Given the description of an element on the screen output the (x, y) to click on. 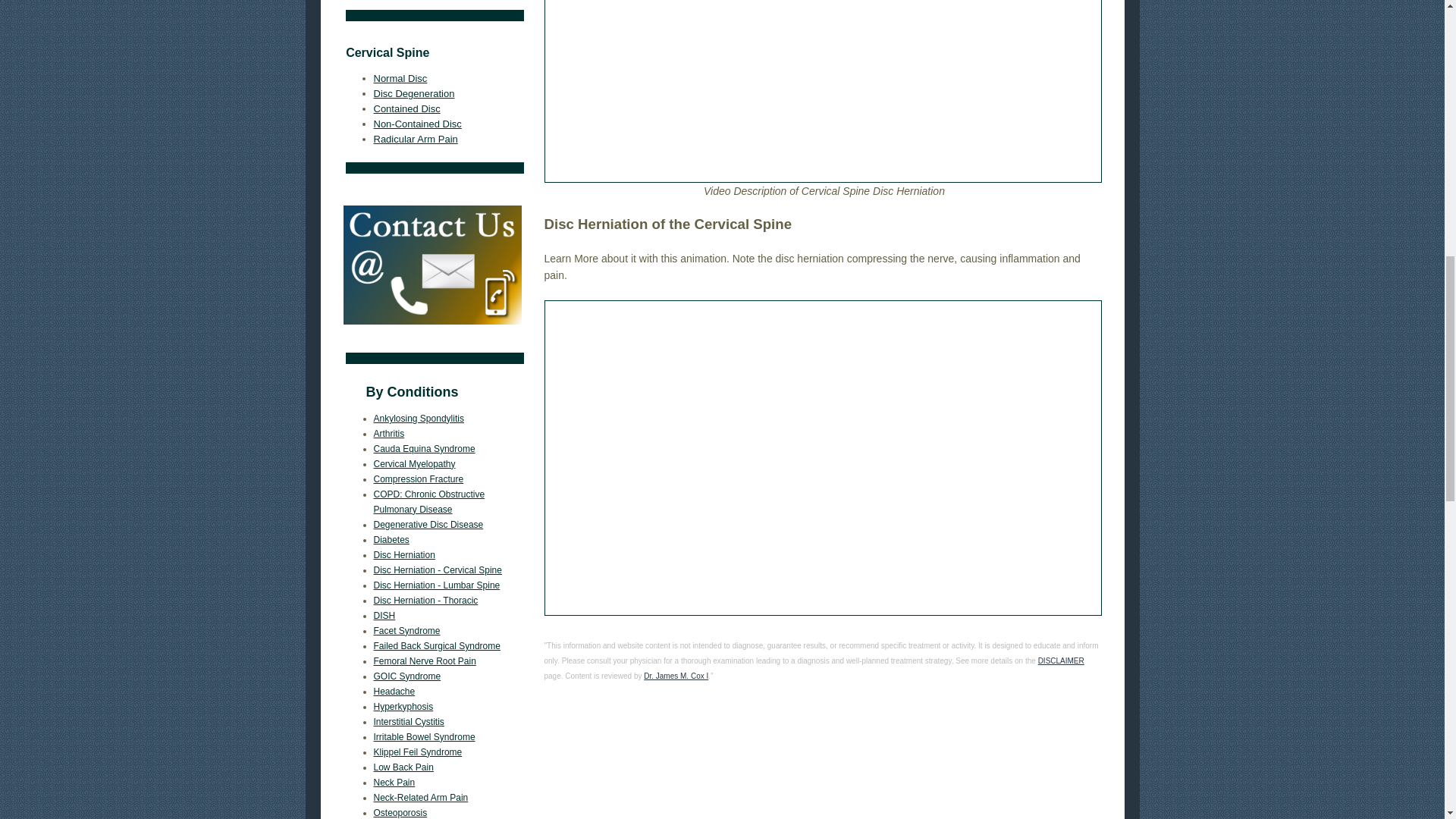
contact-us-colors.jpg (431, 264)
